Given the description of an element on the screen output the (x, y) to click on. 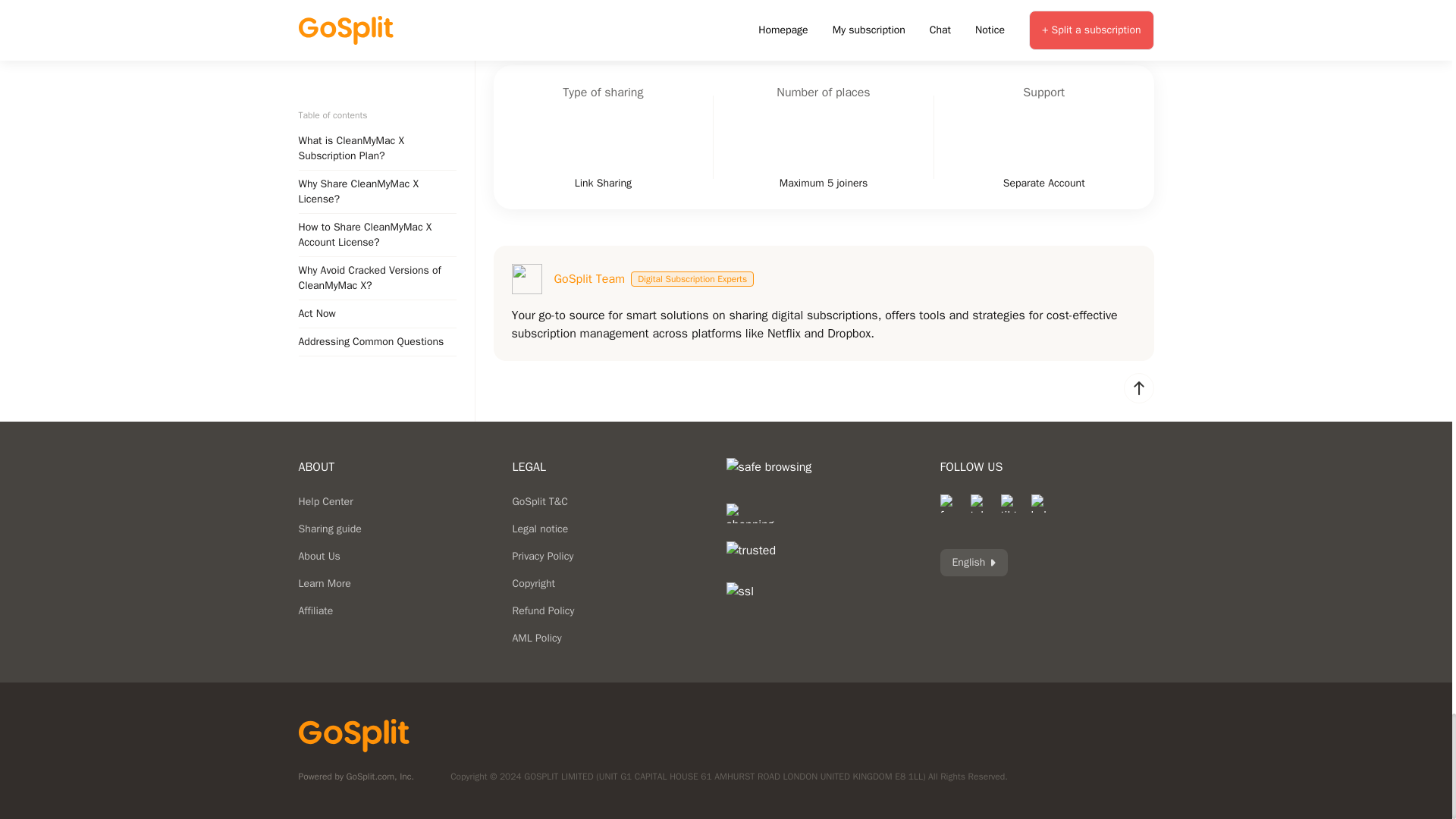
Sharing guide (329, 528)
Help Center (325, 501)
About Us (319, 555)
Learn More (324, 583)
